Given the description of an element on the screen output the (x, y) to click on. 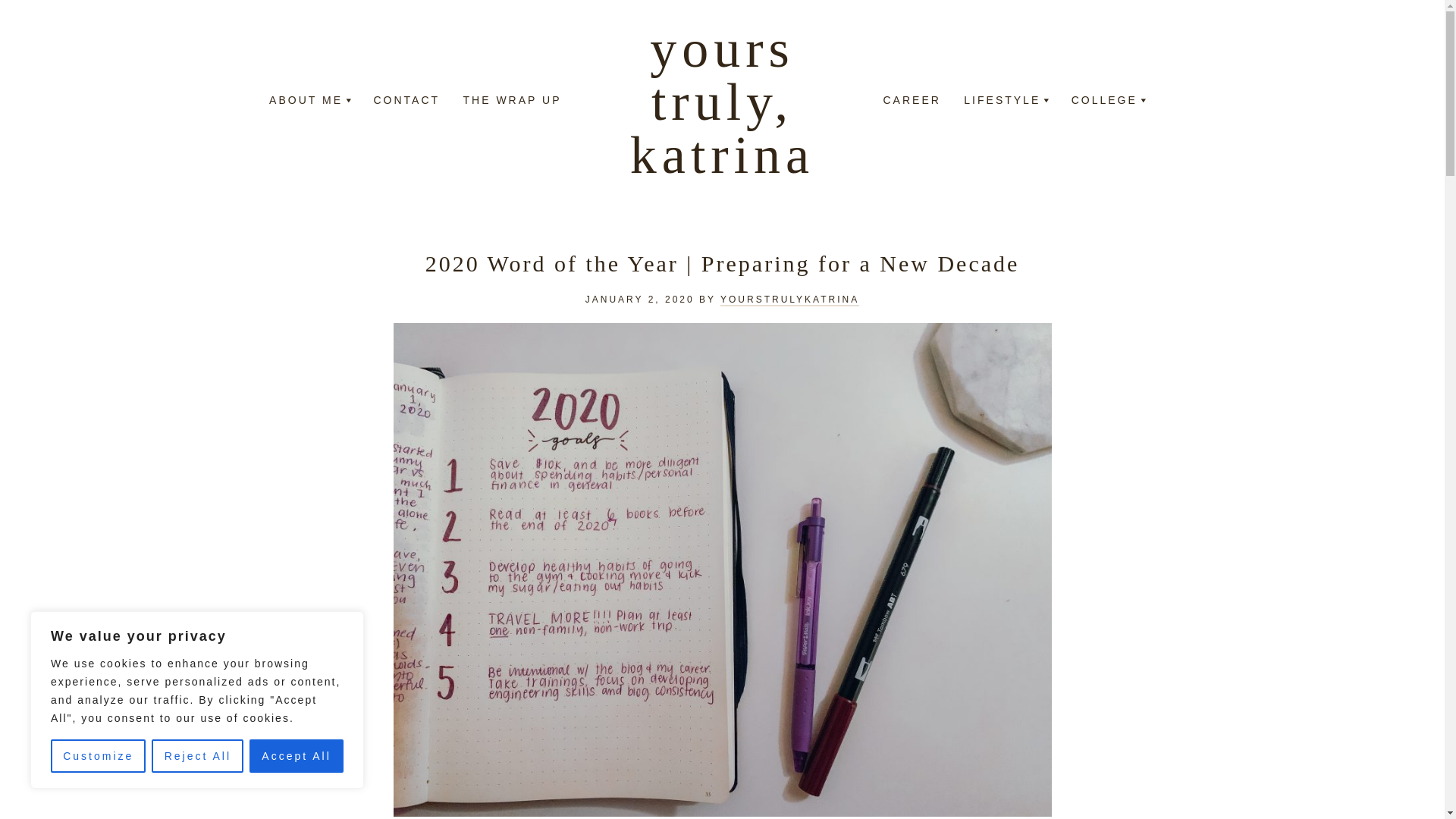
LIFESTYLE (1002, 102)
ABOUT ME (305, 102)
THE WRAP UP (512, 102)
yours truly, katrina (721, 101)
Accept All (295, 756)
COLLEGE (1104, 102)
CONTACT (405, 102)
YOURSTRULYKATRINA (789, 300)
Reject All (197, 756)
